Given the description of an element on the screen output the (x, y) to click on. 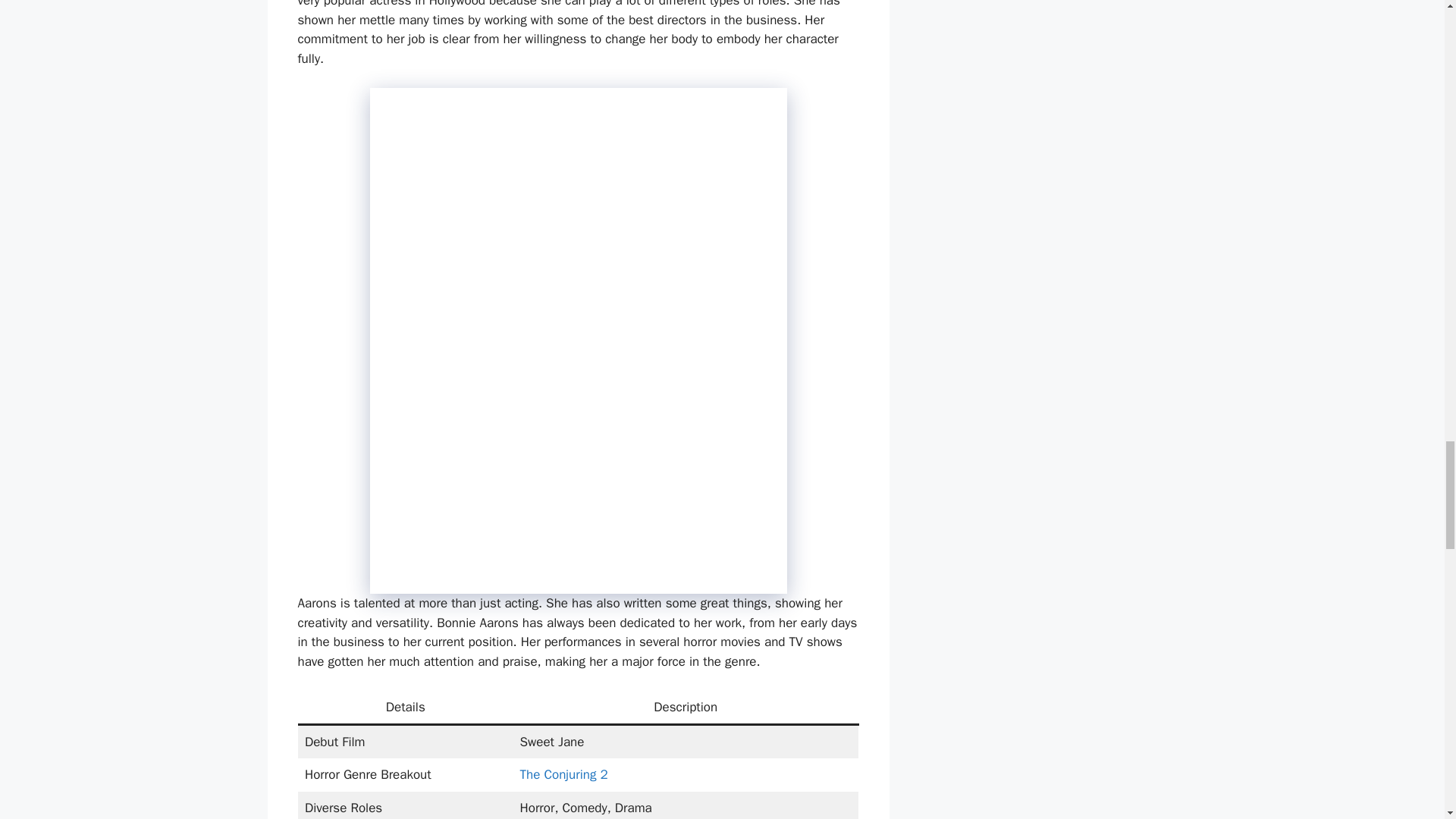
The Conjuring 2 (563, 774)
